Given the description of an element on the screen output the (x, y) to click on. 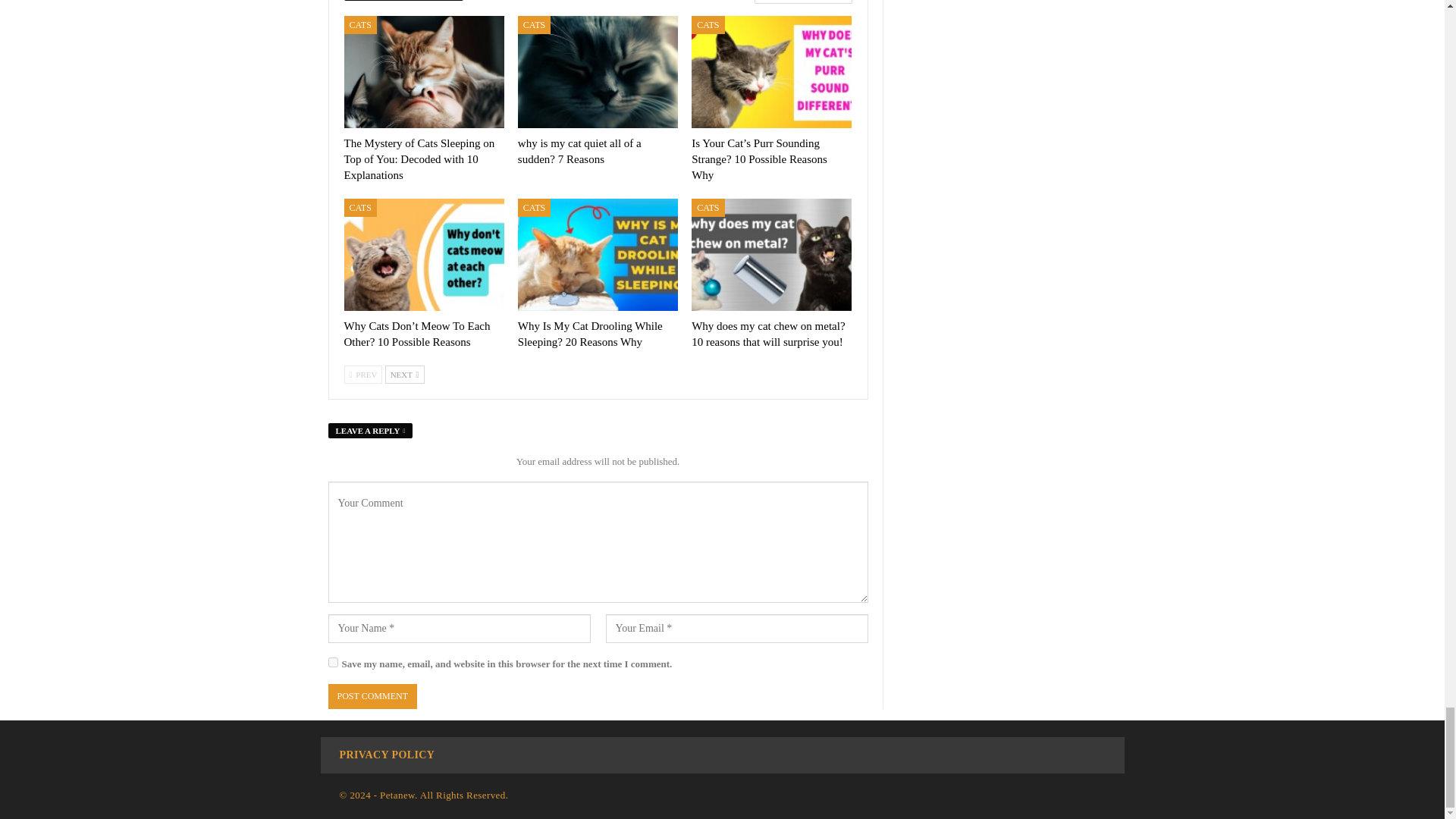
More From Author (798, 2)
CATS (360, 24)
Why Is My Cat Drooling While Sleeping? 20 Reasons Why (590, 334)
Why Is My Cat Drooling While Sleeping? 20 Reasons Why (598, 255)
why is my cat quiet all of a sudden? 7 Reasons (580, 151)
Post Comment (371, 696)
Previous (362, 374)
CATS (534, 24)
why is my cat quiet all of a sudden? 7 Reasons (598, 71)
Next (405, 374)
